Given the description of an element on the screen output the (x, y) to click on. 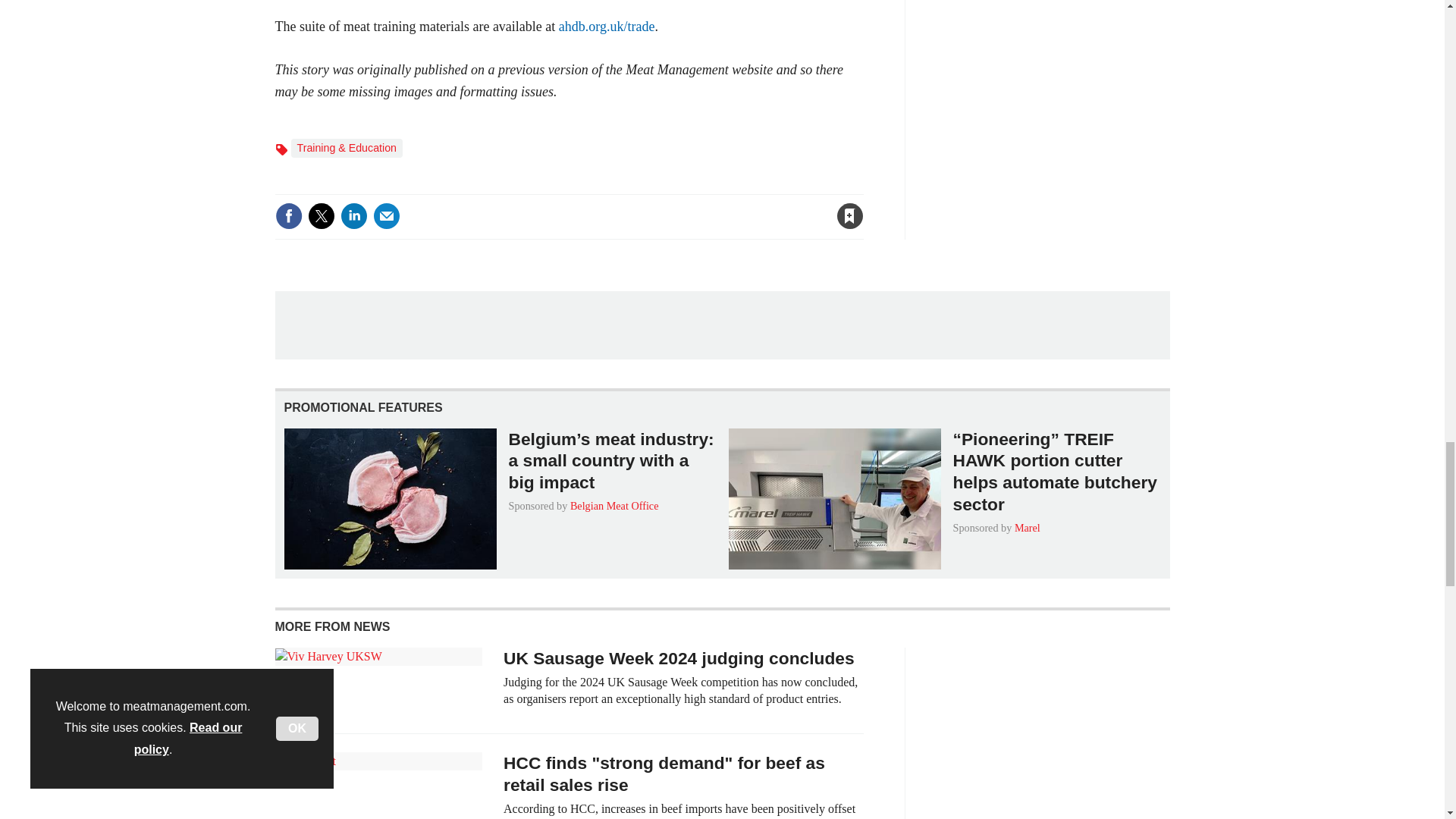
Share this on Facebook (288, 216)
Email this article (386, 216)
Share this on LinkedIn (352, 216)
